Given the description of an element on the screen output the (x, y) to click on. 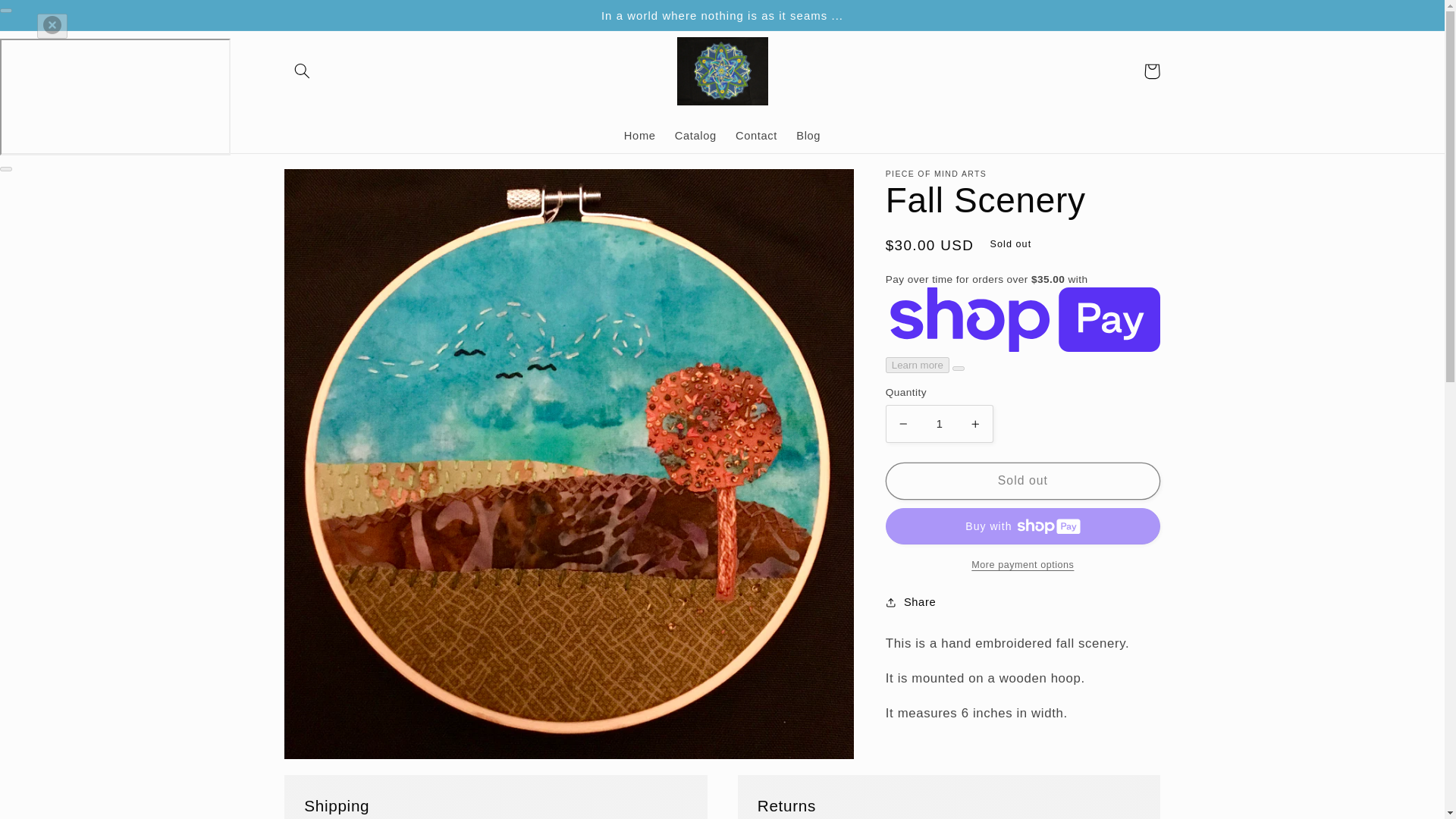
More payment options (1022, 565)
Increase quantity for Fall Scenery (975, 423)
Skip to product information (331, 186)
Decrease quantity for Fall Scenery (903, 423)
Skip to content (48, 18)
Cart (1151, 71)
Home (639, 136)
1 (939, 423)
Contact (755, 136)
Blog (808, 136)
Sold out (1022, 480)
Catalog (695, 136)
